Given the description of an element on the screen output the (x, y) to click on. 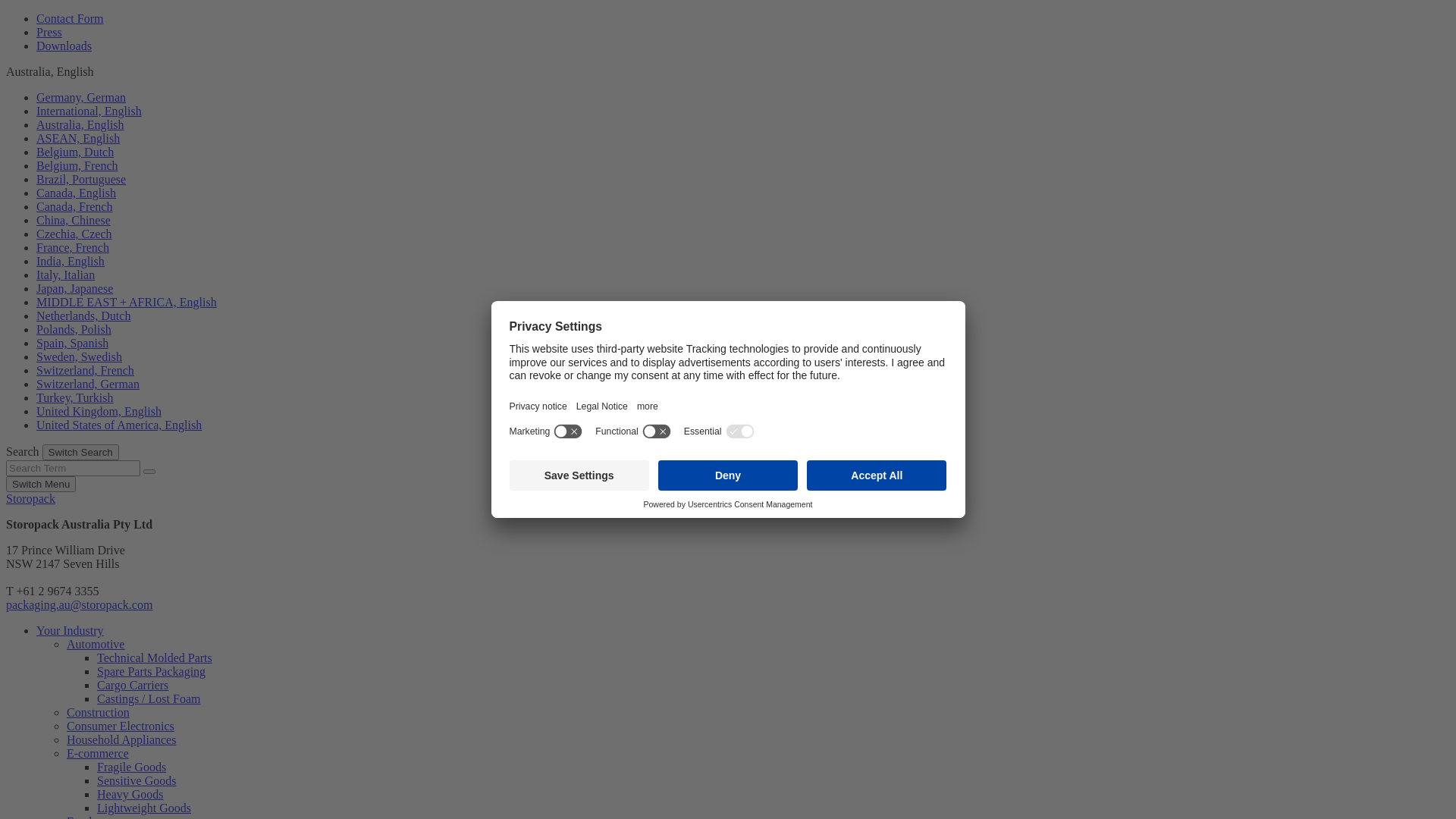
Cargo Carriers Element type: text (132, 684)
Consumer Electronics Element type: text (120, 725)
Switch Menu Element type: text (40, 484)
Belgium, French Element type: text (77, 165)
Australia, English Element type: text (80, 124)
Sweden, Swedish Element type: text (79, 356)
Germany, German Element type: text (80, 97)
Italy, Italian Element type: text (65, 274)
Spare Parts Packaging Element type: text (151, 671)
International, English Element type: text (88, 110)
Switzerland, German Element type: text (87, 383)
MIDDLE EAST + AFRICA, English Element type: text (126, 301)
Downloads Element type: text (63, 45)
Japan, Japanese Element type: text (74, 288)
Canada, French Element type: text (74, 206)
Household Appliances Element type: text (120, 739)
China, Chinese Element type: text (73, 219)
ASEAN, English Element type: text (77, 137)
India, English Element type: text (70, 260)
packaging.au@storopack.com Element type: text (79, 604)
Contact Form Element type: text (69, 18)
Czechia, Czech Element type: text (74, 233)
Storopack Element type: text (30, 498)
Netherlands, Dutch Element type: text (83, 315)
Sensitive Goods Element type: text (136, 780)
Polands, Polish Element type: text (73, 329)
Technical Molded Parts Element type: text (154, 657)
Automotive Element type: text (95, 643)
United States of America, English Element type: text (118, 424)
Construction Element type: text (97, 712)
Your Industry Element type: text (69, 630)
Switzerland, French Element type: text (85, 370)
E-commerce Element type: text (97, 752)
Heavy Goods Element type: text (130, 793)
Castings / Lost Foam Element type: text (148, 698)
Switch Search Element type: text (80, 452)
Spain, Spanish Element type: text (72, 342)
France, French Element type: text (72, 247)
Lightweight Goods Element type: text (144, 807)
Turkey, Turkish Element type: text (74, 397)
Fragile Goods Element type: text (131, 766)
Belgium, Dutch Element type: text (74, 151)
Brazil, Portuguese Element type: text (80, 178)
Canada, English Element type: text (76, 192)
United Kingdom, English Element type: text (98, 410)
Press Element type: text (49, 31)
